Given the description of an element on the screen output the (x, y) to click on. 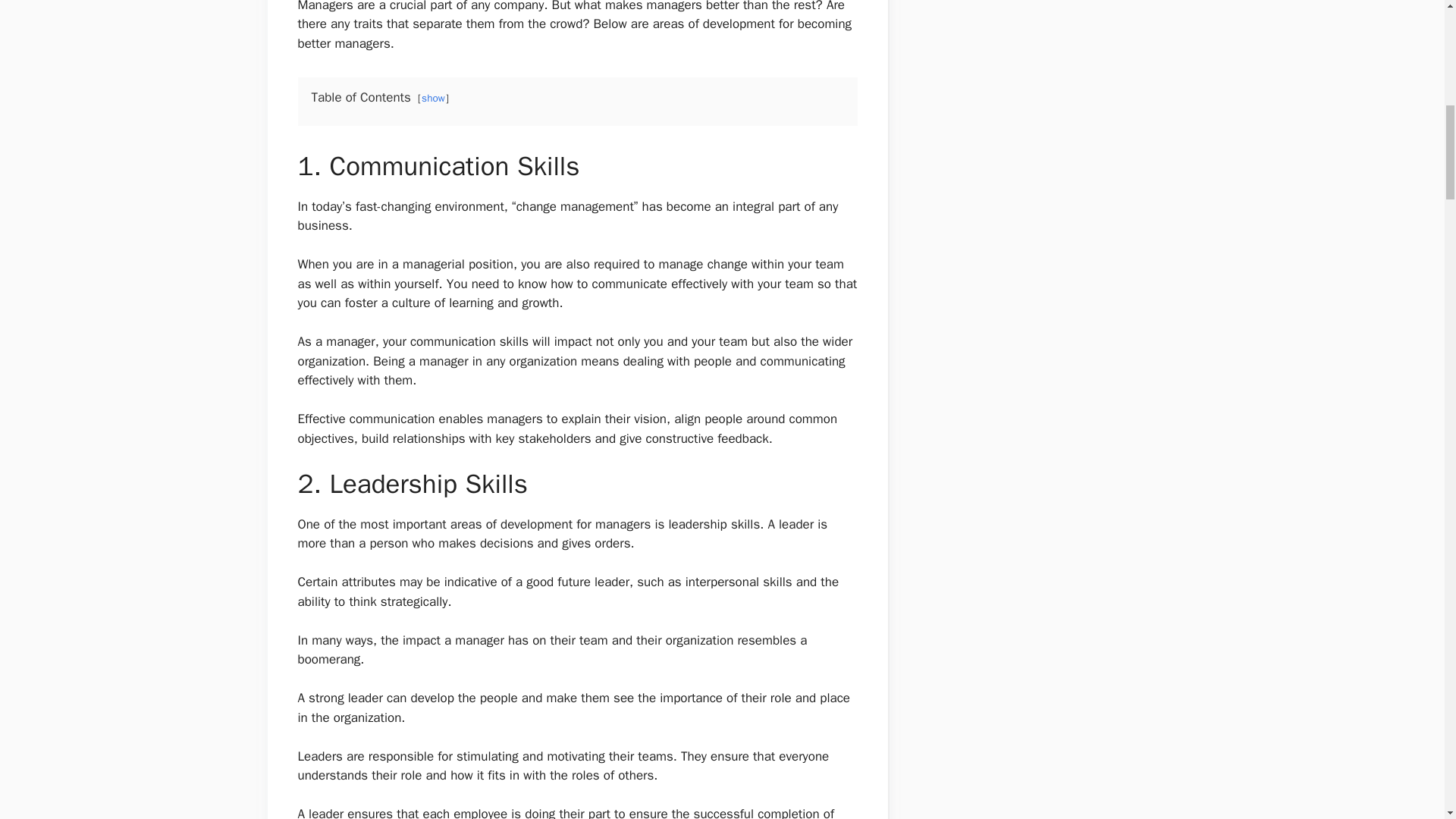
show (433, 97)
